Given the description of an element on the screen output the (x, y) to click on. 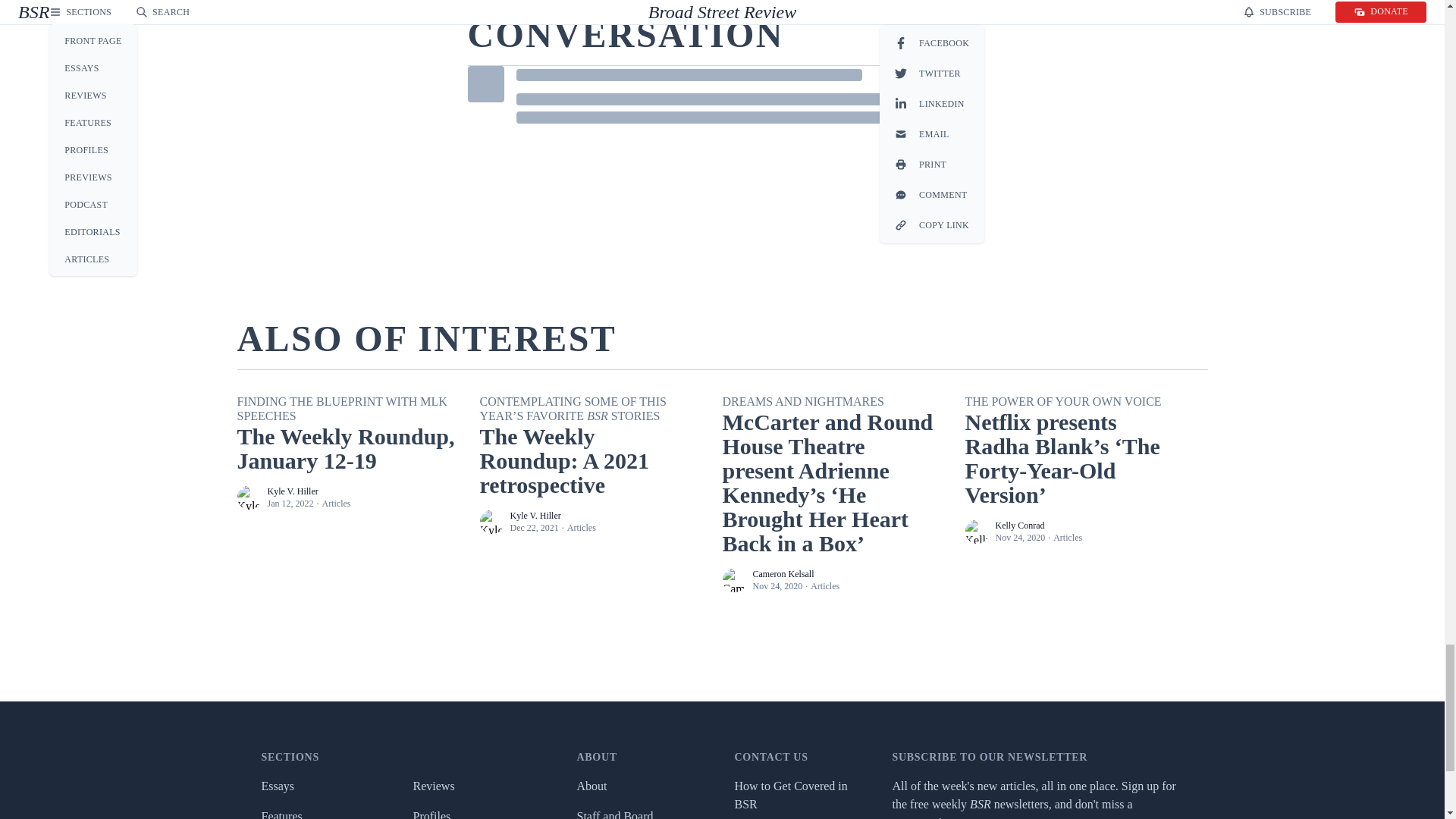
Kyle V. Hiller (534, 515)
Articles (581, 527)
Kyle V. Hiller (291, 491)
Articles (335, 502)
